Given the description of an element on the screen output the (x, y) to click on. 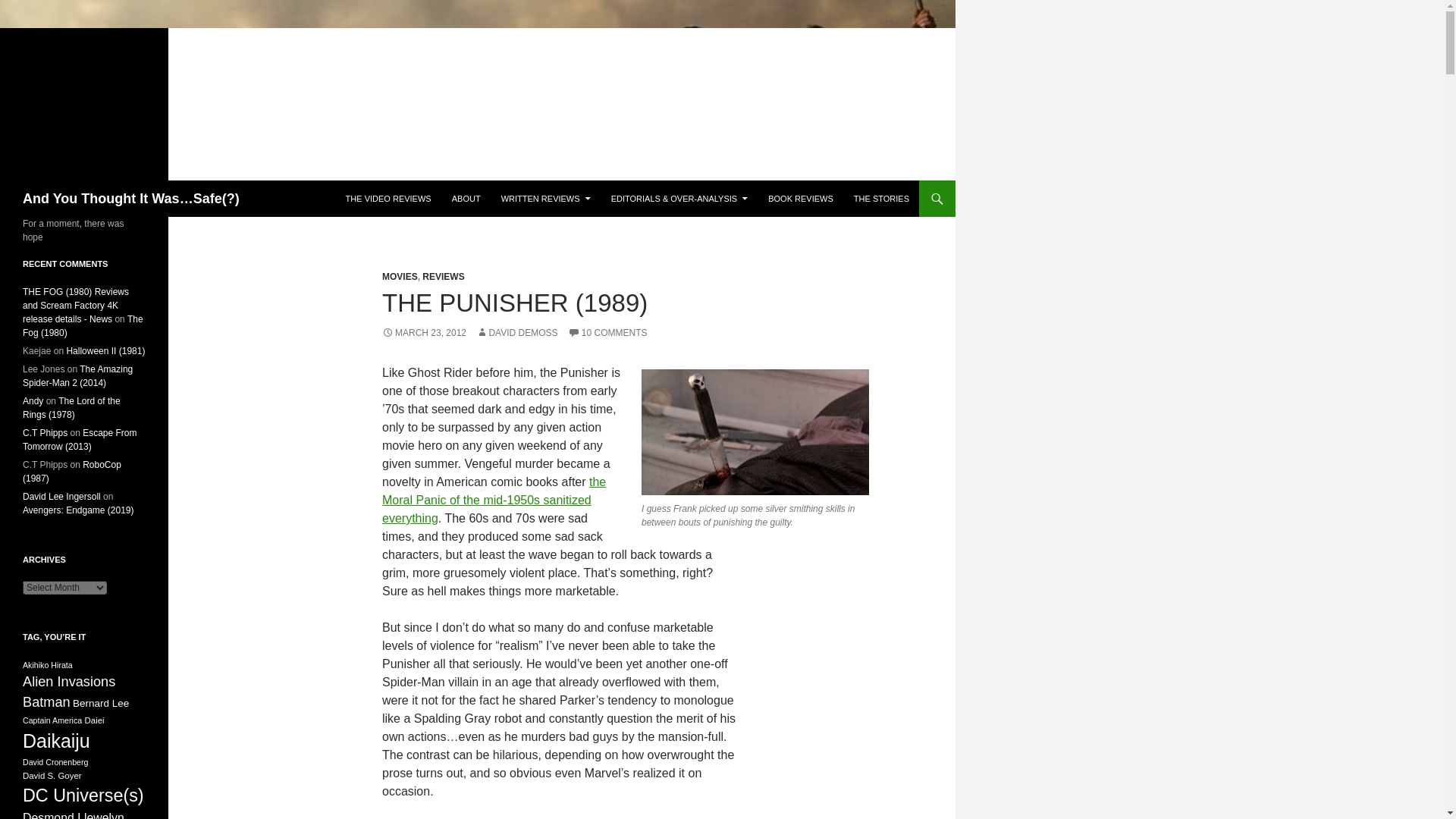
DAVID DEMOSS (516, 332)
WRITTEN REVIEWS (545, 198)
BOOK REVIEWS (800, 198)
MARCH 23, 2012 (423, 332)
ABOUT (465, 198)
10 COMMENTS (607, 332)
the Moral Panic of the mid-1950s sanitized everything (493, 499)
THE STORIES (881, 198)
